Given the description of an element on the screen output the (x, y) to click on. 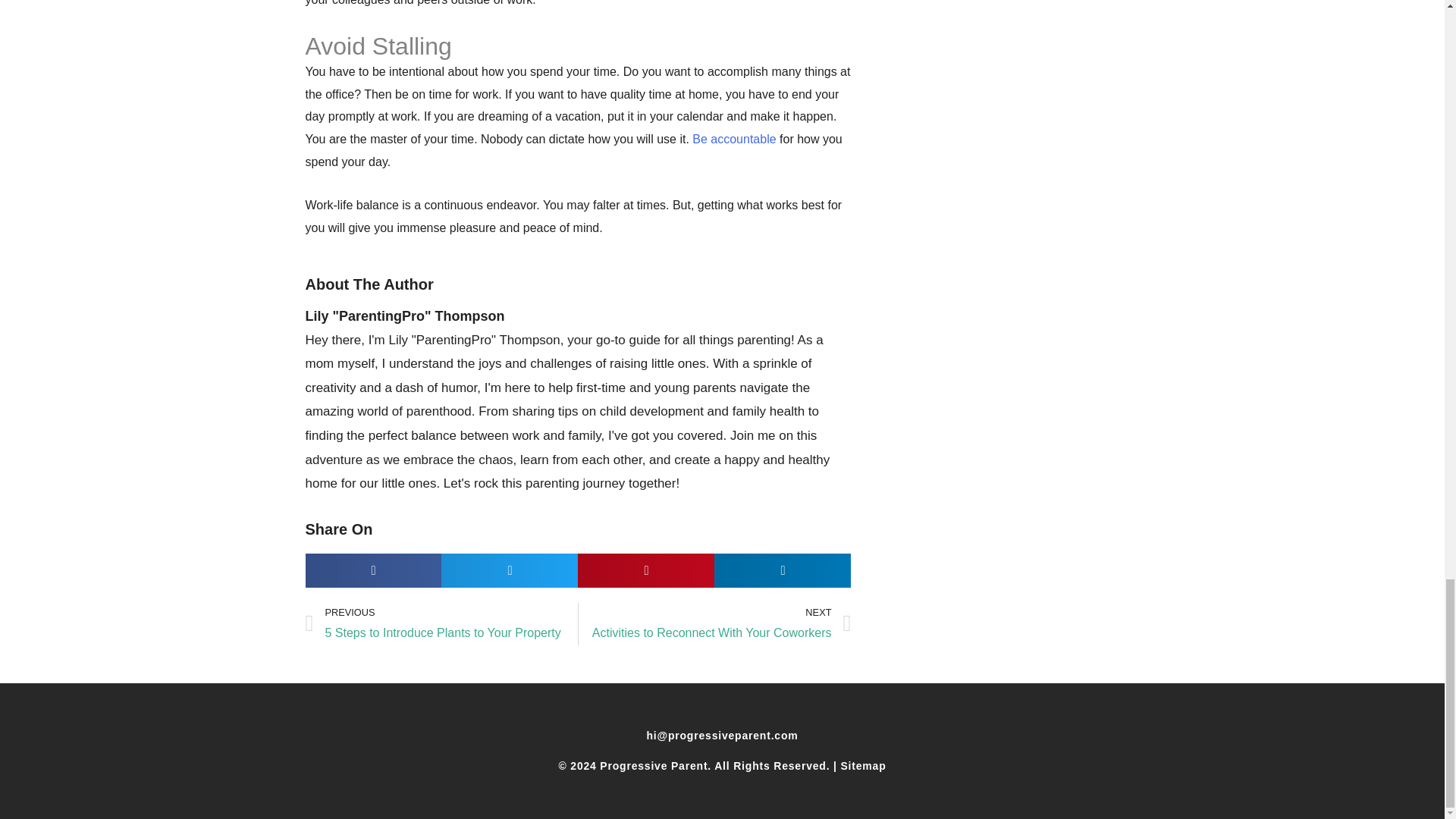
Be accountable (714, 623)
